Given the description of an element on the screen output the (x, y) to click on. 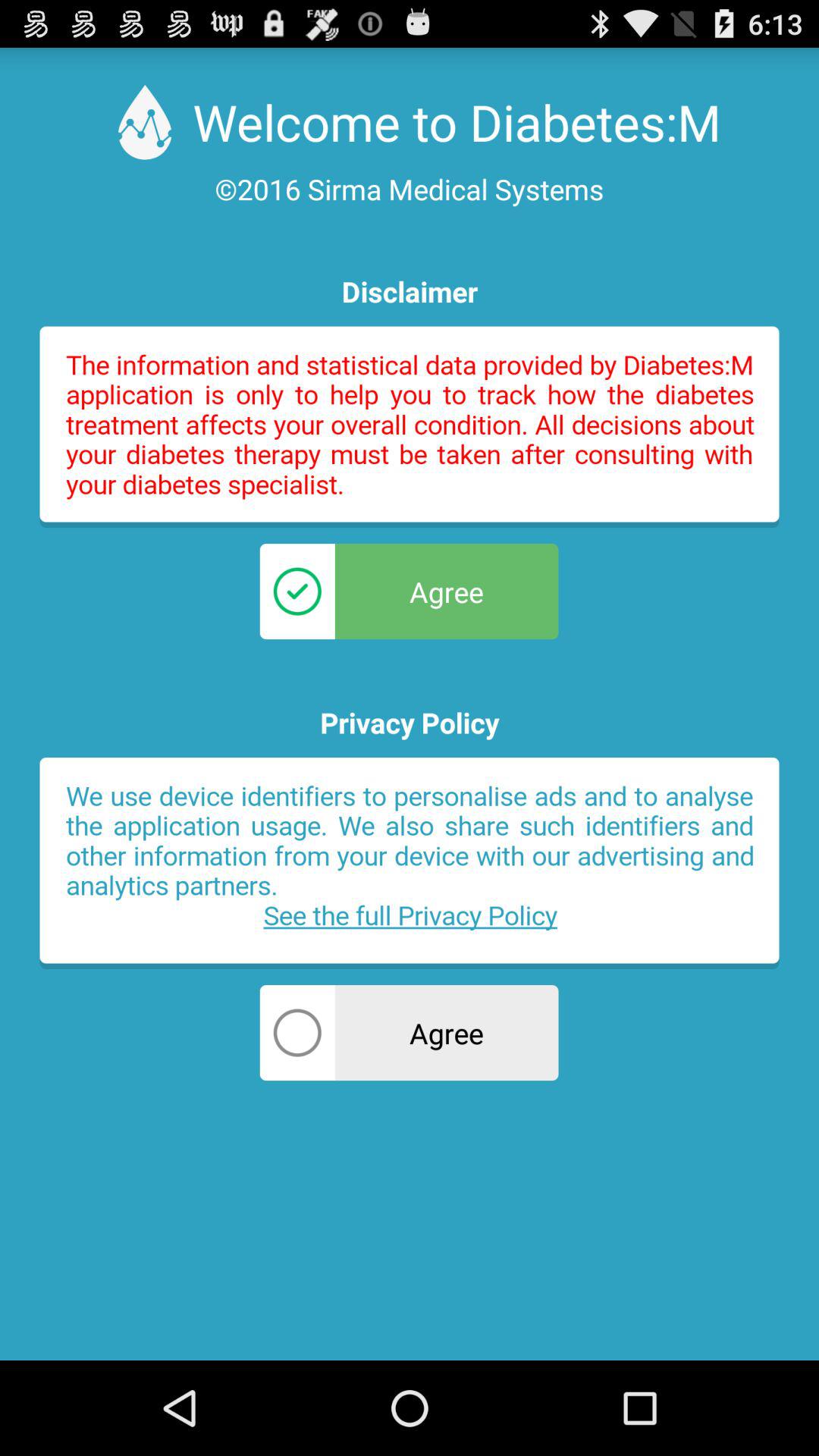
show full view (409, 426)
